Given the description of an element on the screen output the (x, y) to click on. 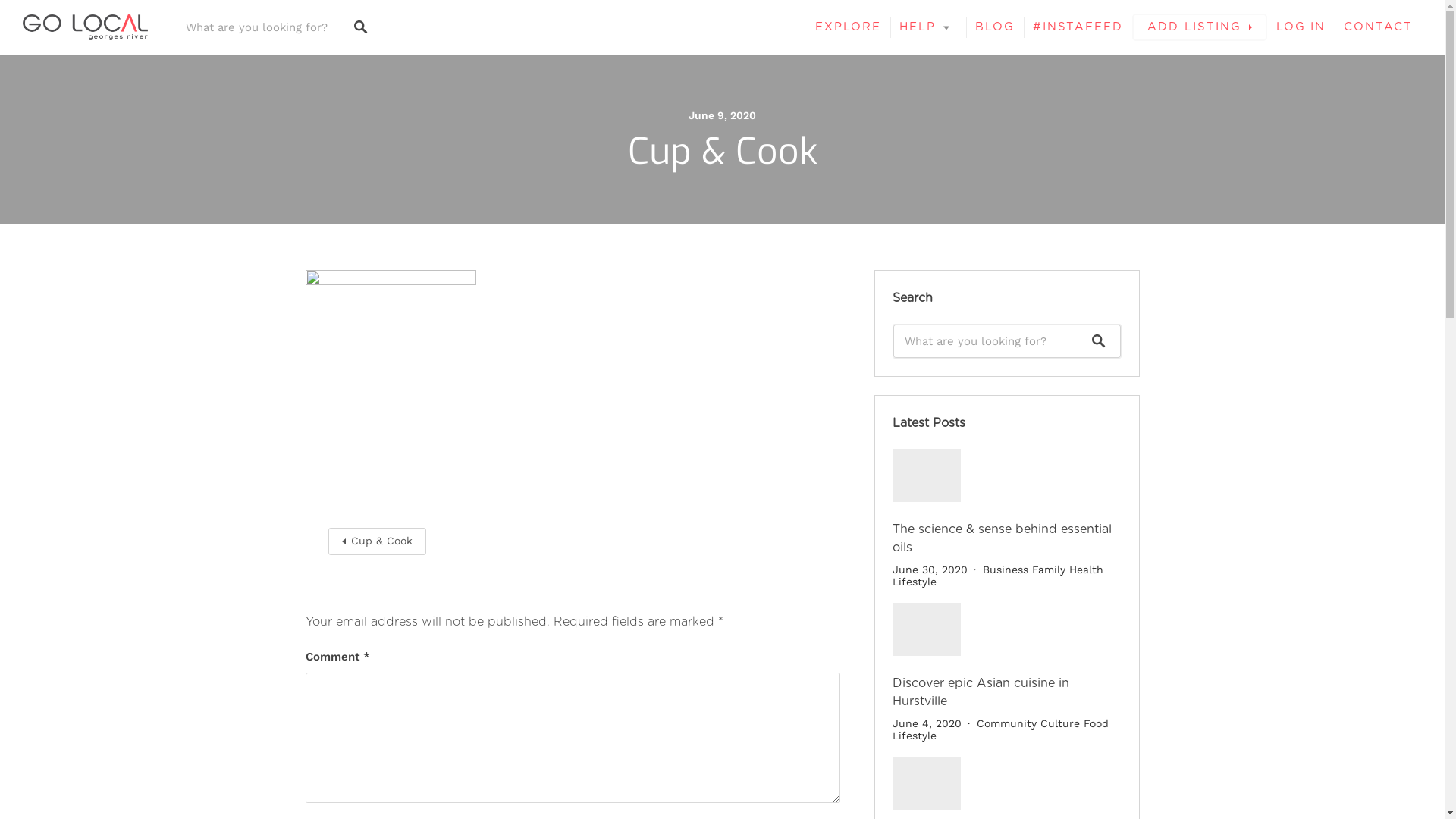
BLOG Element type: text (994, 27)
HELP Element type: text (928, 27)
Family Element type: text (1047, 569)
Business Element type: text (1005, 569)
Culture Element type: text (1059, 723)
CONTACT Element type: text (1377, 27)
EXPLORE Element type: text (848, 27)
June 4, 2020 Element type: text (925, 723)
Lifestyle Element type: text (913, 735)
June 9, 2020 Element type: text (721, 115)
Community Element type: text (1006, 723)
Food Element type: text (1094, 723)
Discover epic Asian cuisine in Hurstville Element type: text (979, 692)
June 30, 2020 Element type: text (928, 569)
The science & sense behind essential oils Element type: text (1000, 538)
Cup & Cook Element type: text (376, 541)
#INSTAFEED Element type: text (1077, 27)
Lifestyle Element type: text (913, 581)
LOG IN Element type: text (1301, 27)
ADD LISTING Element type: text (1198, 27)
Health Element type: text (1086, 569)
